Given the description of an element on the screen output the (x, y) to click on. 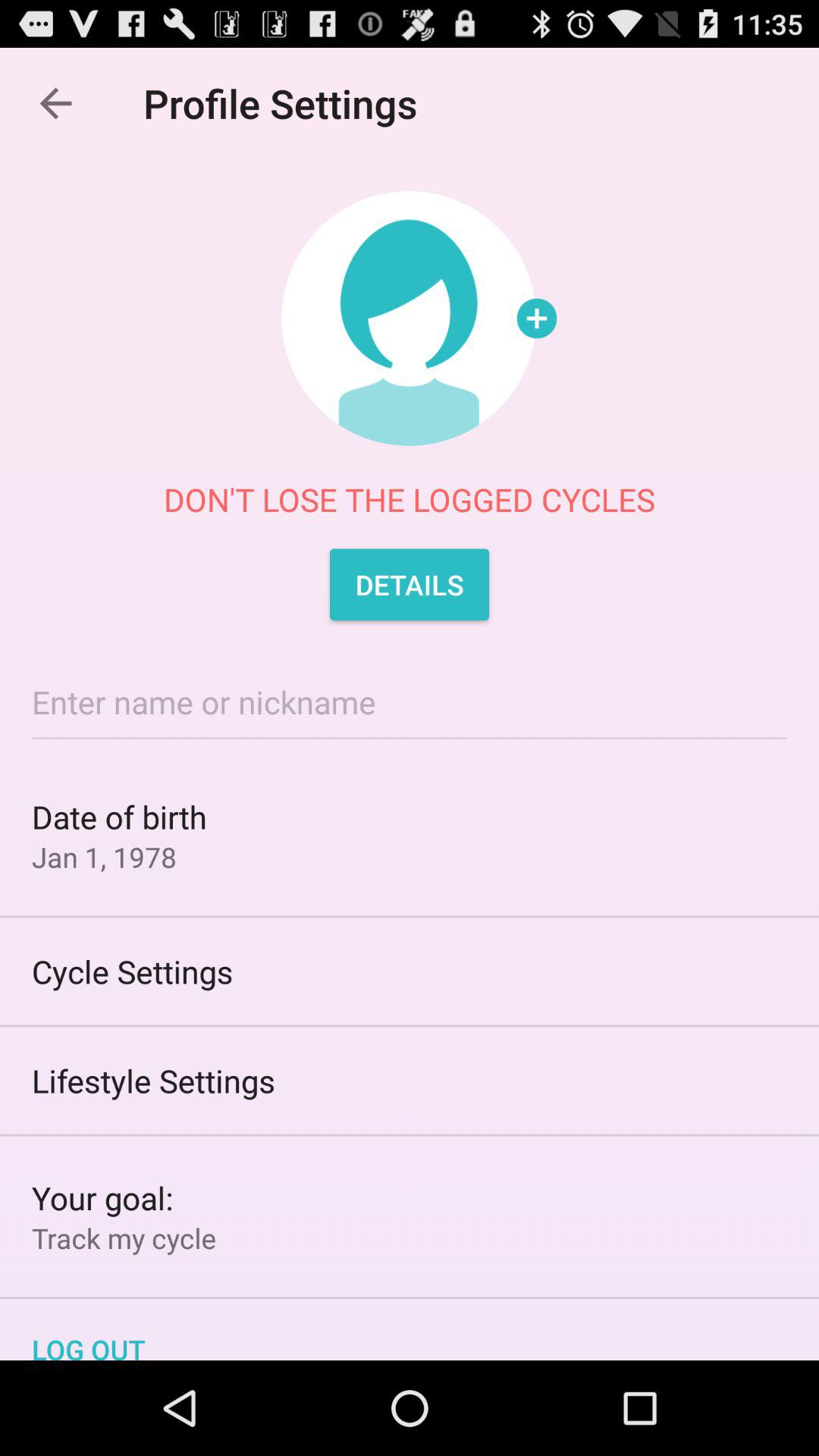
turn on lifestyle settings (409, 1080)
